Given the description of an element on the screen output the (x, y) to click on. 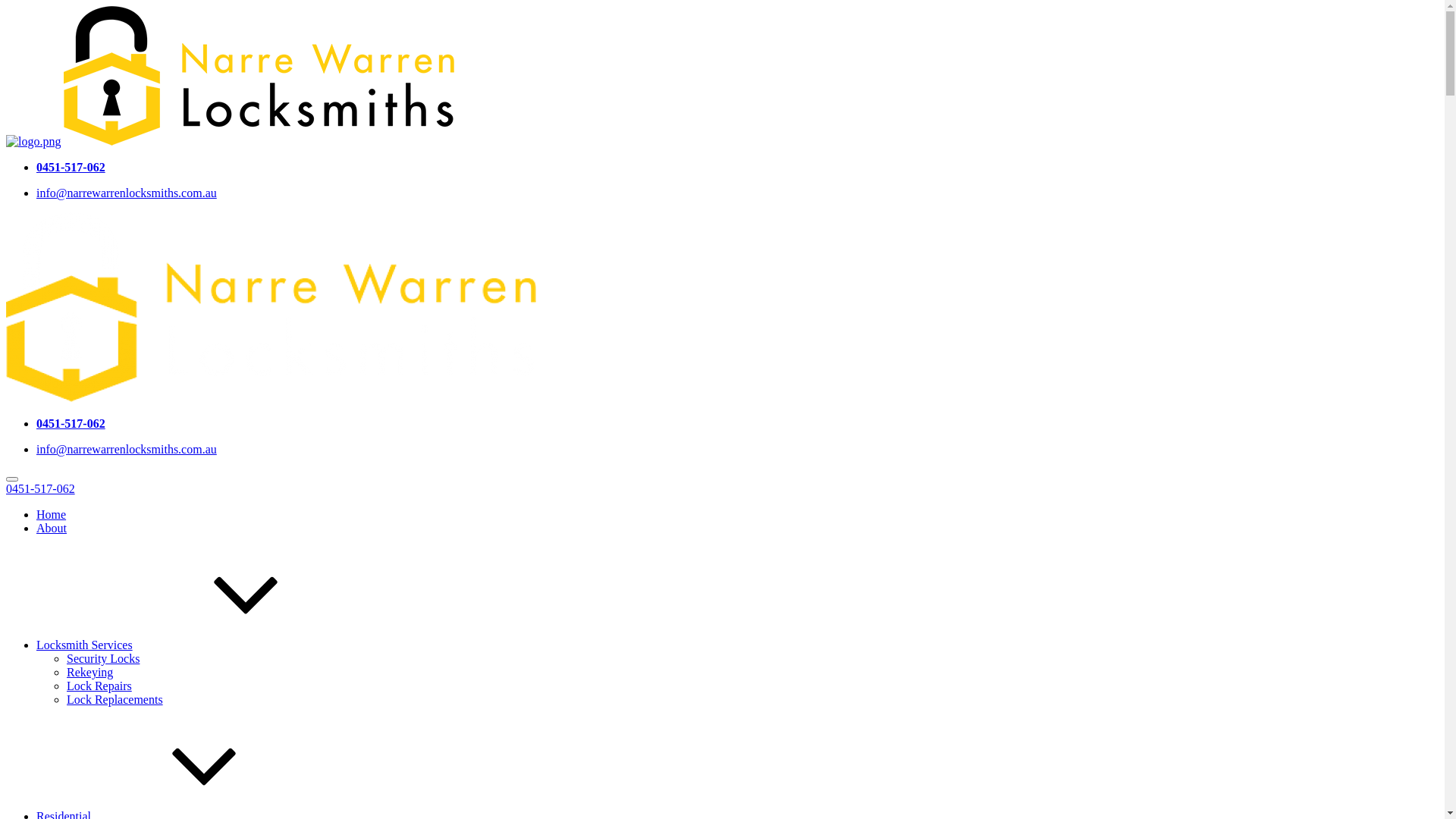
Rekeying Element type: text (89, 671)
Skip to content Element type: text (5, 5)
0451-517-062 Element type: text (40, 488)
Security Locks Element type: text (102, 658)
info@narrewarrenlocksmiths.com.au Element type: text (126, 448)
info@narrewarrenlocksmiths.com.au Element type: text (126, 192)
Home Element type: text (50, 514)
Lock Replacements Element type: text (114, 699)
About Element type: text (51, 527)
Locksmith Services Element type: text (198, 644)
0451-517-062 Element type: text (70, 423)
Lock Repairs Element type: text (98, 685)
0451-517-062 Element type: text (70, 166)
